Given the description of an element on the screen output the (x, y) to click on. 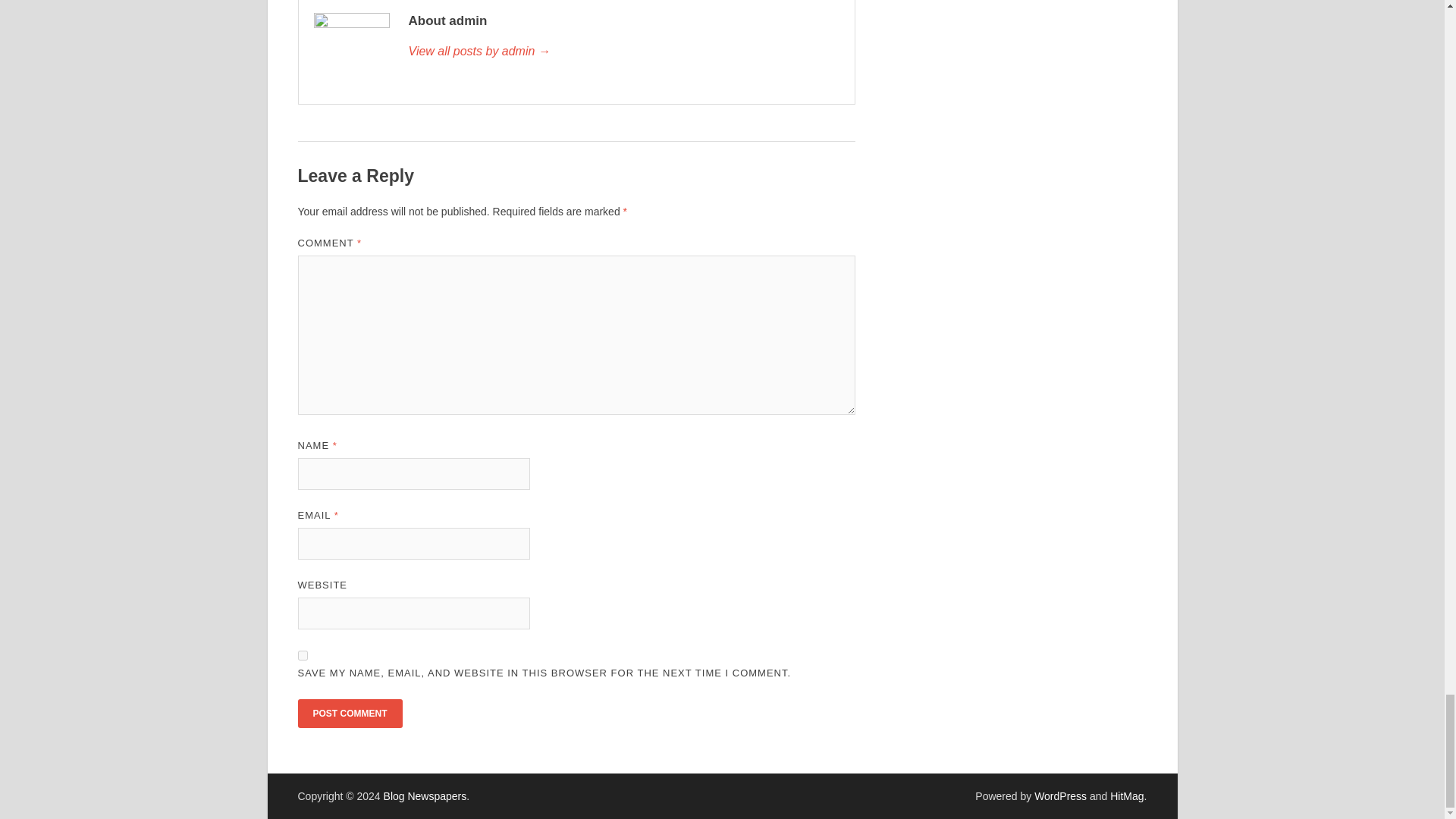
Blog Newspapers (425, 796)
Post Comment (349, 713)
WordPress (1059, 796)
yes (302, 655)
admin (622, 51)
HitMag WordPress Theme (1125, 796)
